Given the description of an element on the screen output the (x, y) to click on. 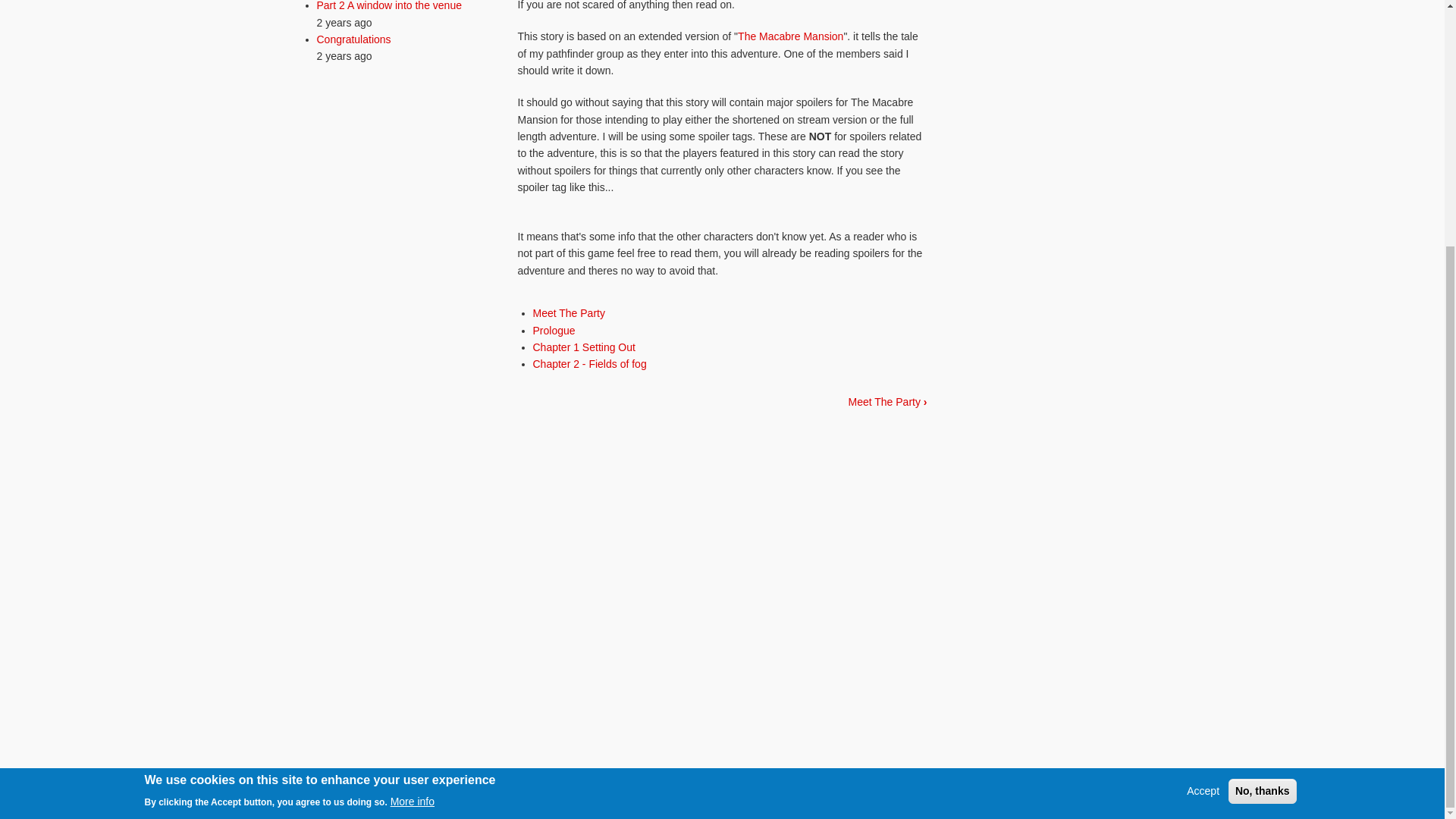
More info (411, 457)
No, thanks (1262, 446)
Part 2 A window into the venue (389, 5)
Congratulations (354, 39)
Advertisement (398, 330)
Go to next page (886, 401)
Advertisement (721, 529)
Accept (1202, 446)
Chapter 1 Setting Out (583, 346)
Prologue (553, 330)
The Macabre Mansion (790, 36)
Chapter 2 - Fields of fog (589, 363)
Meet The Party (568, 313)
Advertisement (1045, 485)
